Given the description of an element on the screen output the (x, y) to click on. 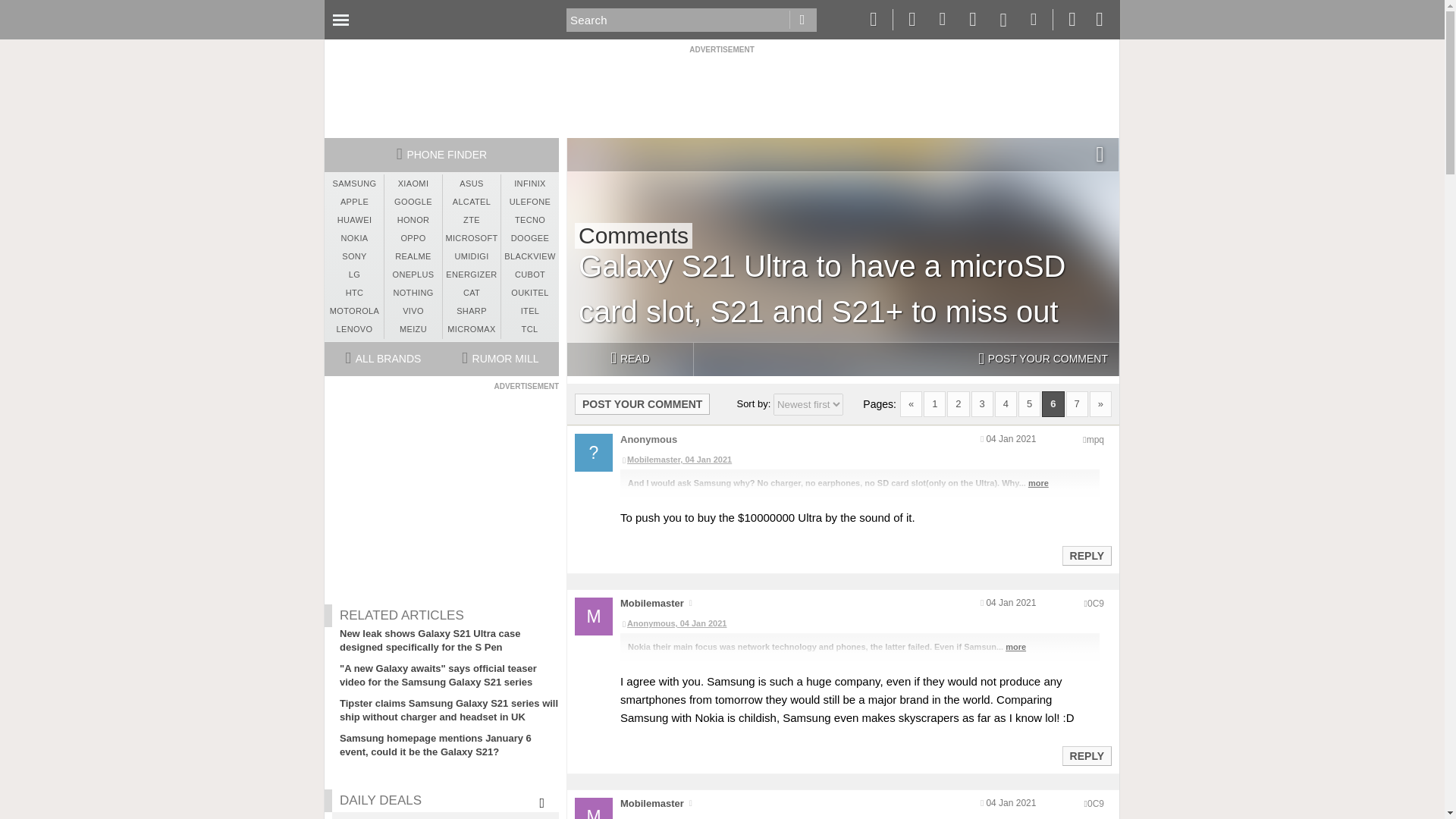
more (1037, 482)
Go (802, 19)
Encoded anonymized location (1095, 603)
Go (802, 19)
POST YOUR COMMENT (1042, 359)
Reply to this post (1086, 756)
Mobilemaster, 04 Jan 2021 (859, 459)
POST YOUR COMMENT (642, 403)
Reply to this post (1086, 555)
Sort comments by (808, 404)
Encoded anonymized location (1094, 439)
Encoded anonymized location (1095, 803)
READ (630, 359)
REPLY (1086, 556)
